Given the description of an element on the screen output the (x, y) to click on. 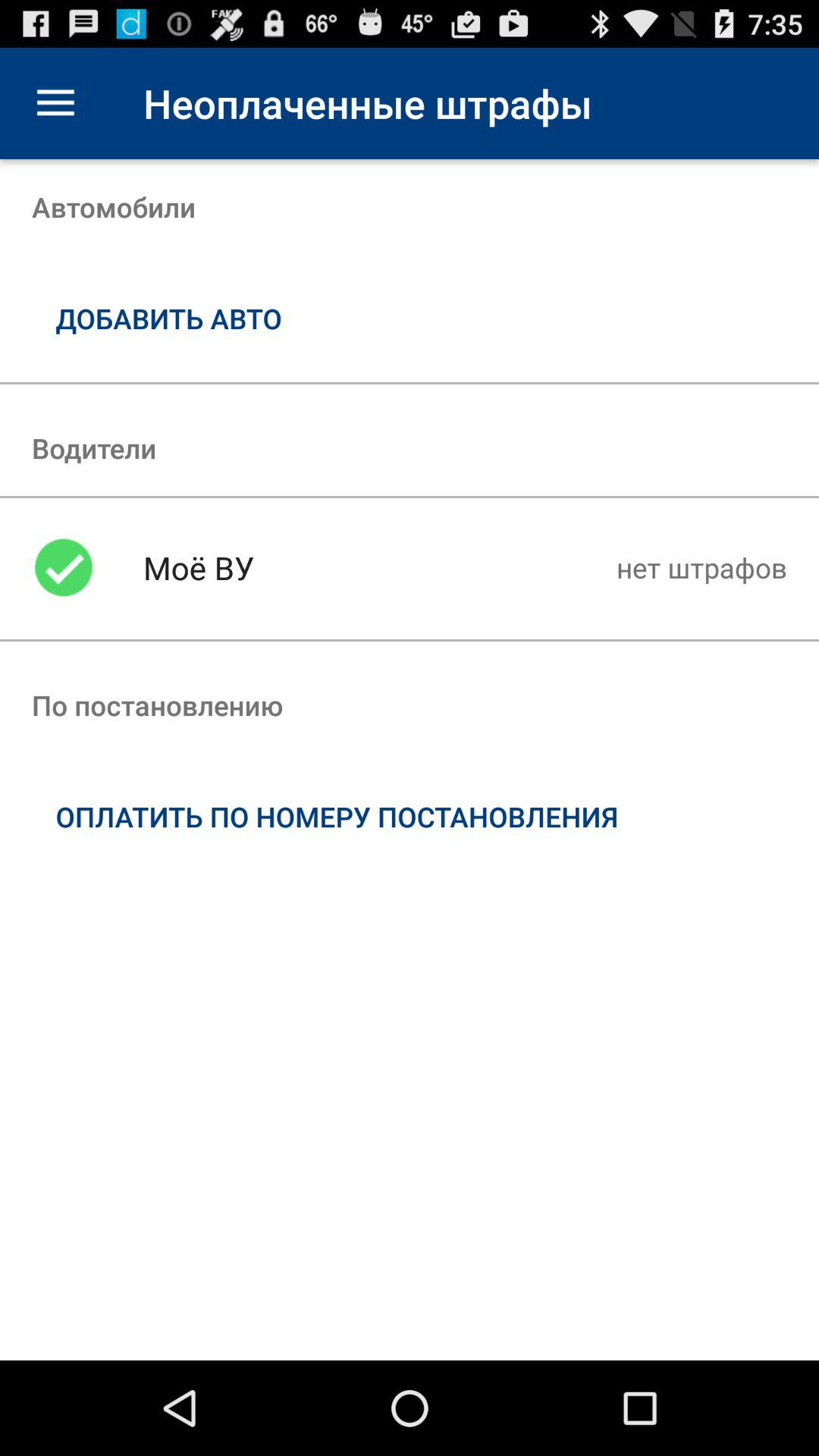
turn off the icon at the top left corner (55, 103)
